Given the description of an element on the screen output the (x, y) to click on. 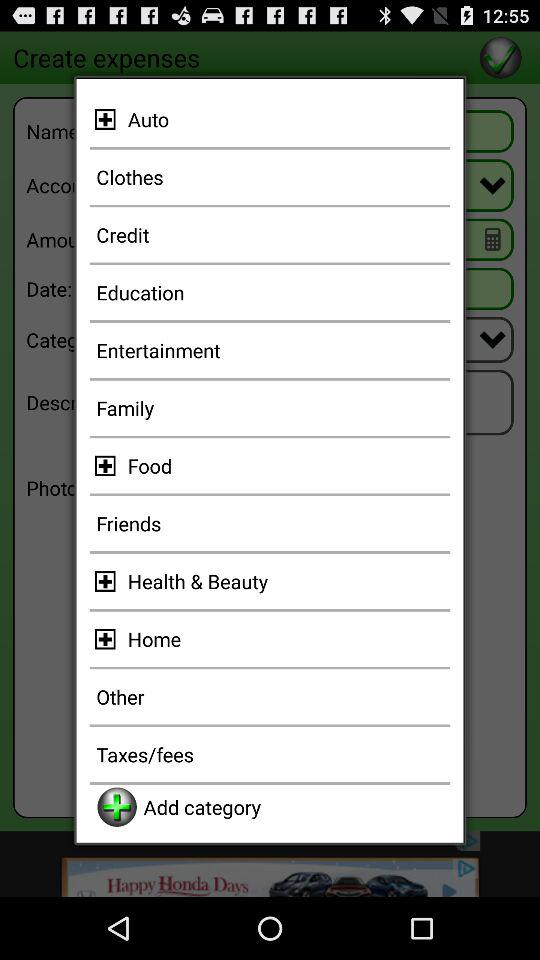
add list to the health beauty (108, 581)
